Given the description of an element on the screen output the (x, y) to click on. 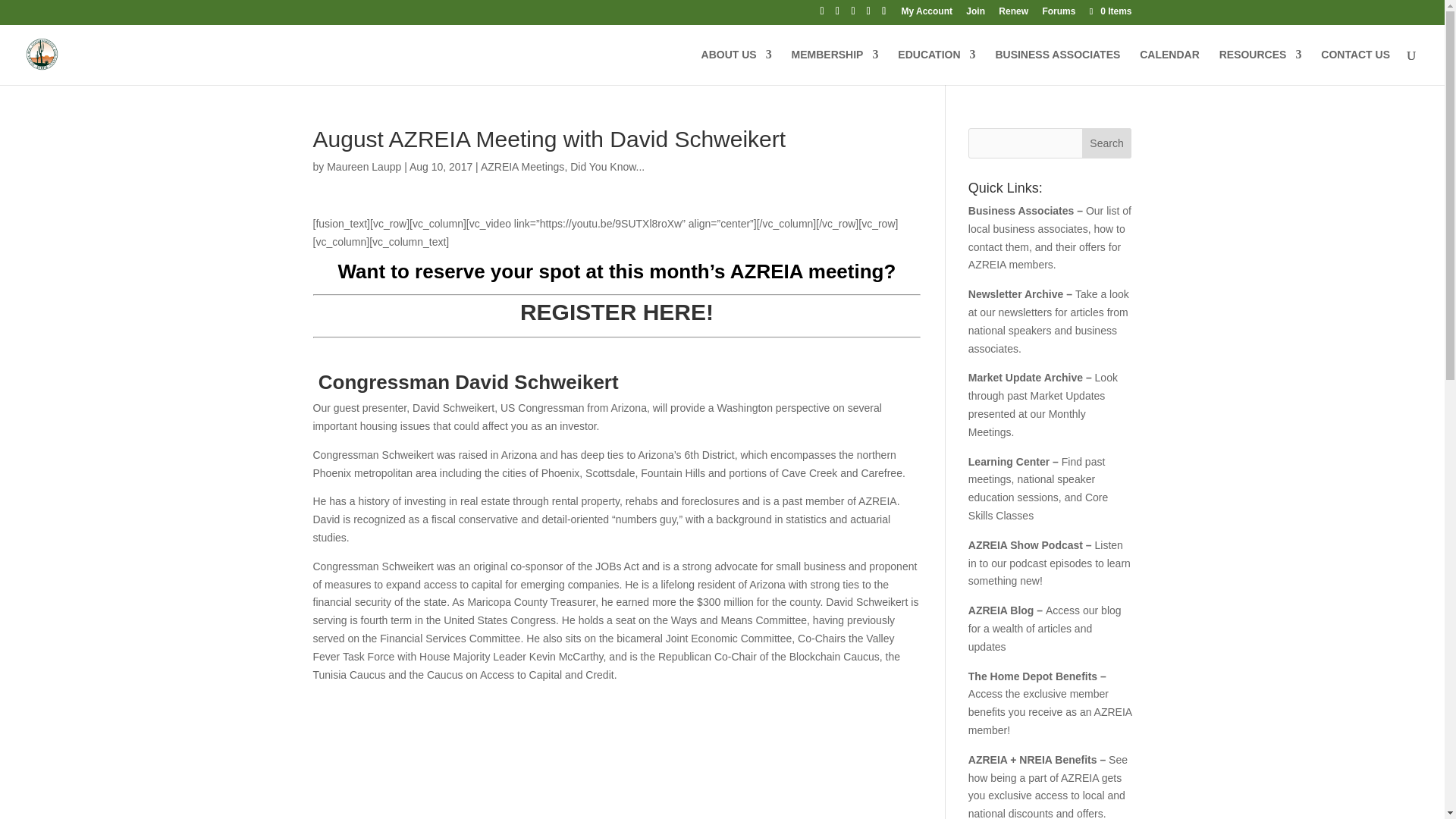
EDUCATION (936, 66)
MEMBERSHIP (835, 66)
CONTACT US (1355, 66)
ABOUT US (736, 66)
RESOURCES (1260, 66)
Posts by Maureen Laupp (363, 166)
Forums (1058, 14)
Join (975, 14)
BUSINESS ASSOCIATES (1056, 66)
CALENDAR (1169, 66)
My Account (926, 14)
Renew (1012, 14)
0 Items (1108, 10)
